Given the description of an element on the screen output the (x, y) to click on. 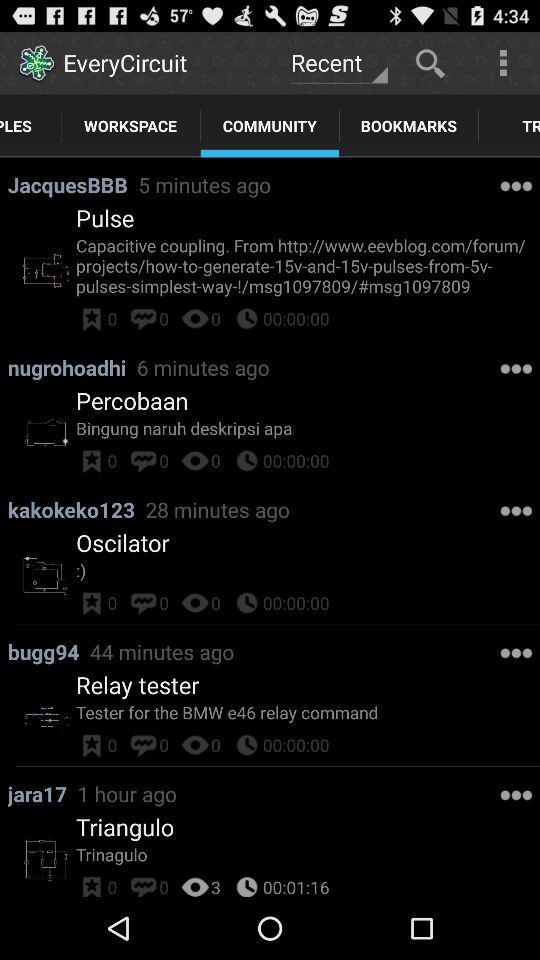
launch the app above triangulo (42, 793)
